Given the description of an element on the screen output the (x, y) to click on. 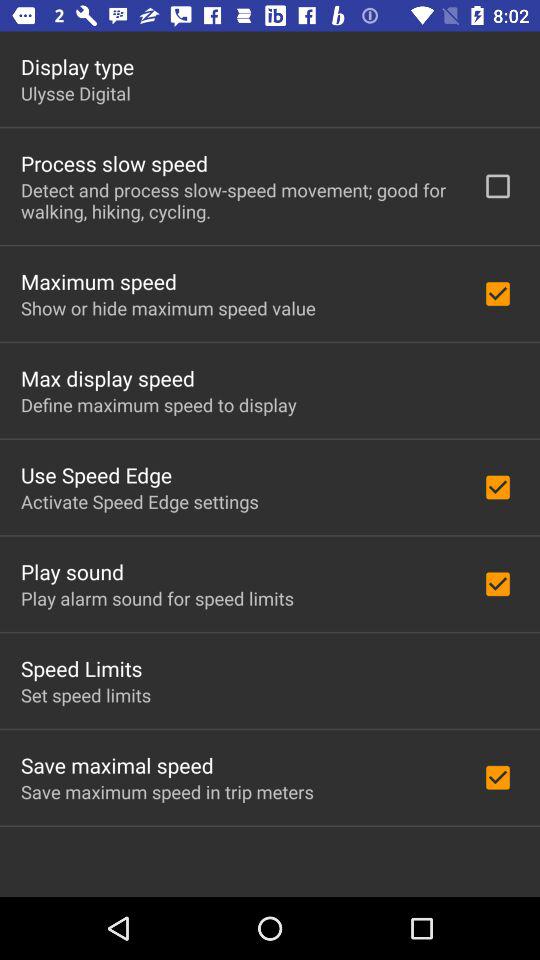
click the display type icon (77, 66)
